Given the description of an element on the screen output the (x, y) to click on. 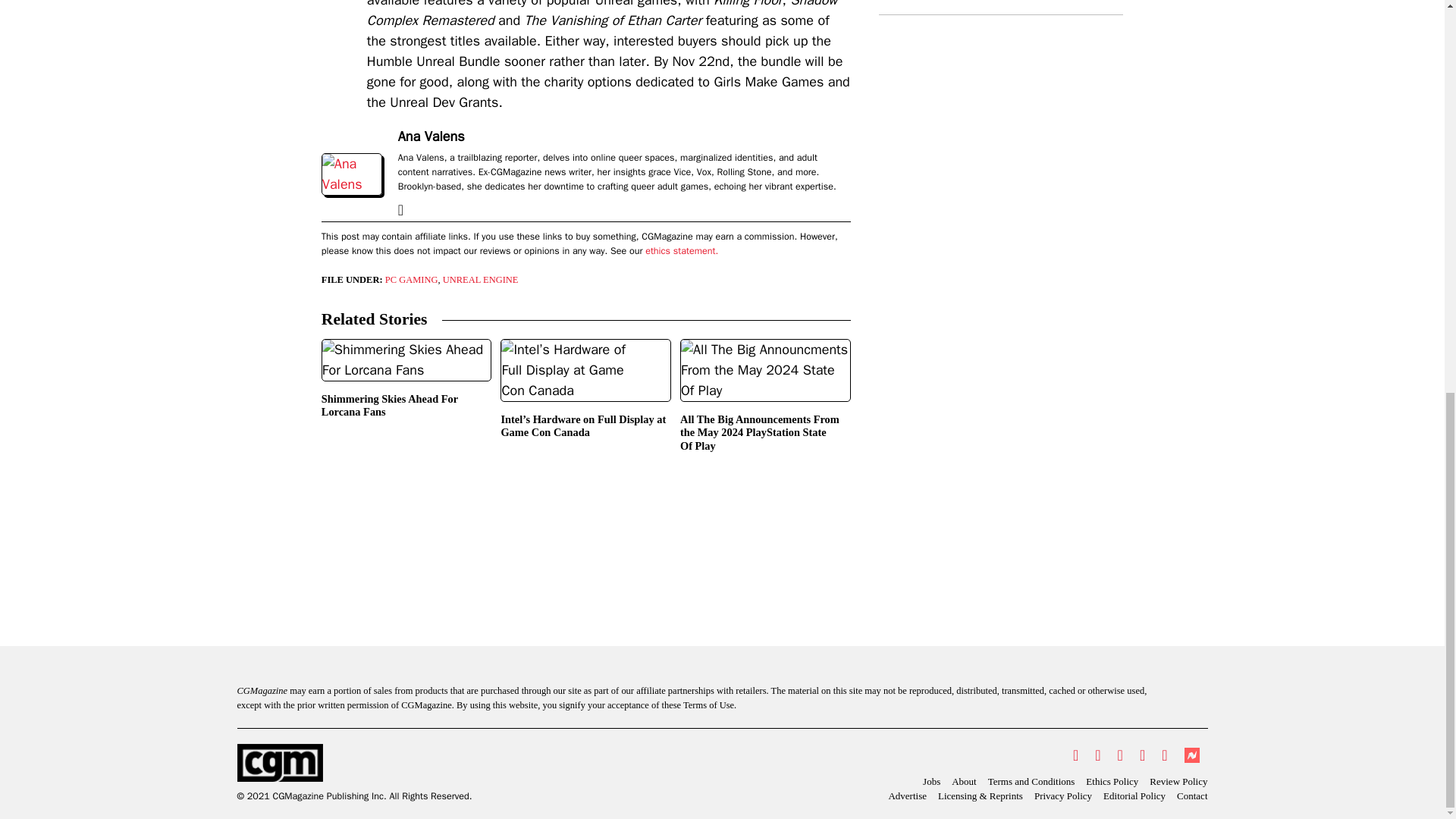
YouTube Page (1142, 754)
Instagram Profile (1120, 754)
Facebook Page (1097, 754)
CGMagazine (353, 762)
Twitter Profile (1075, 754)
NewsBreak (1190, 754)
Ana Valens (430, 136)
Flipboard Page (1163, 754)
